Given the description of an element on the screen output the (x, y) to click on. 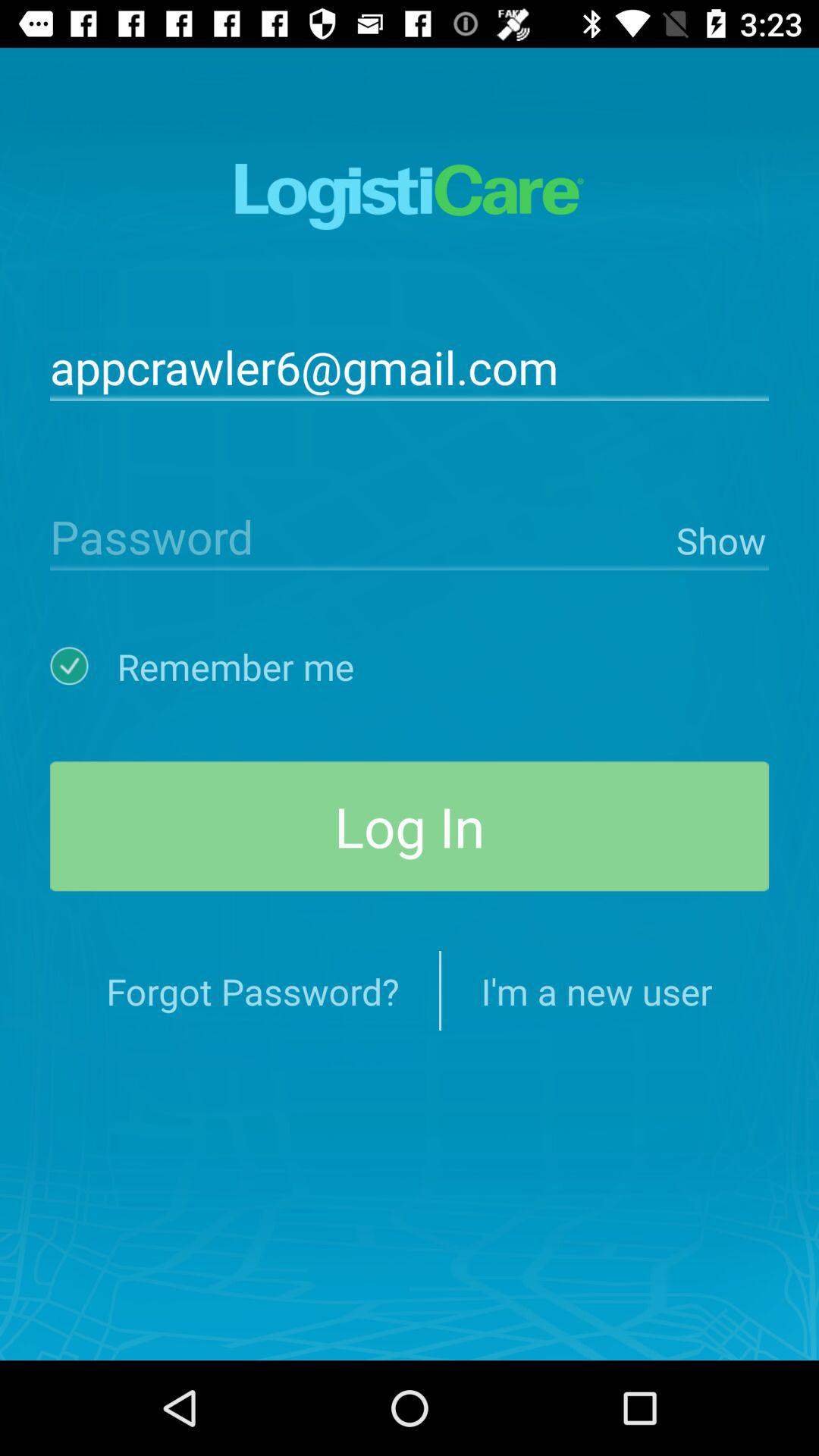
password type option (359, 535)
